Given the description of an element on the screen output the (x, y) to click on. 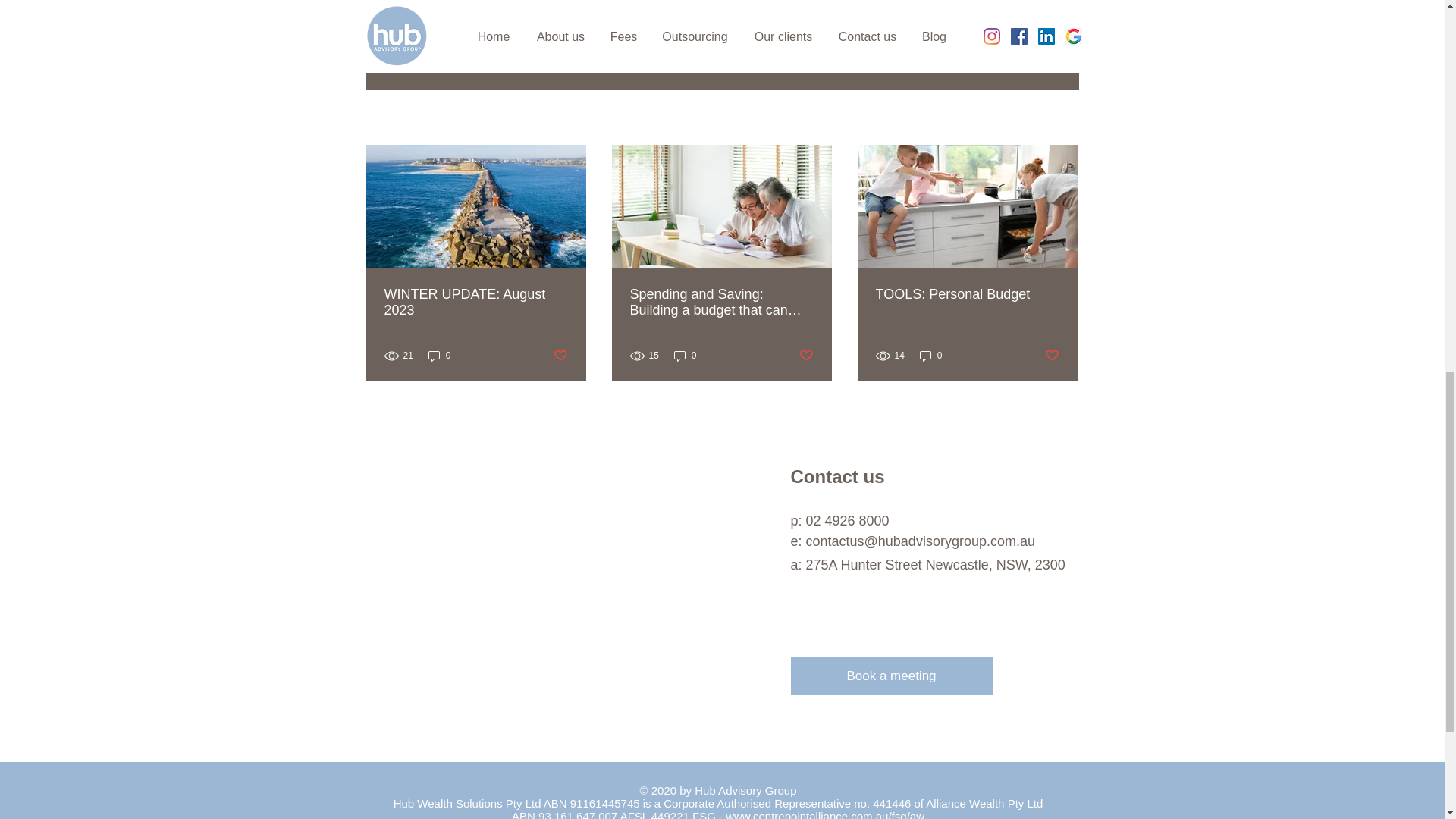
0 (685, 355)
WINTER UPDATE: August 2023 (475, 302)
Google Maps (569, 581)
Post not marked as liked (560, 355)
Post not marked as liked (806, 355)
Spending and Saving: Building a budget that can work for you (720, 302)
Post not marked as liked (995, 36)
0 (439, 355)
See All (1061, 118)
